Given the description of an element on the screen output the (x, y) to click on. 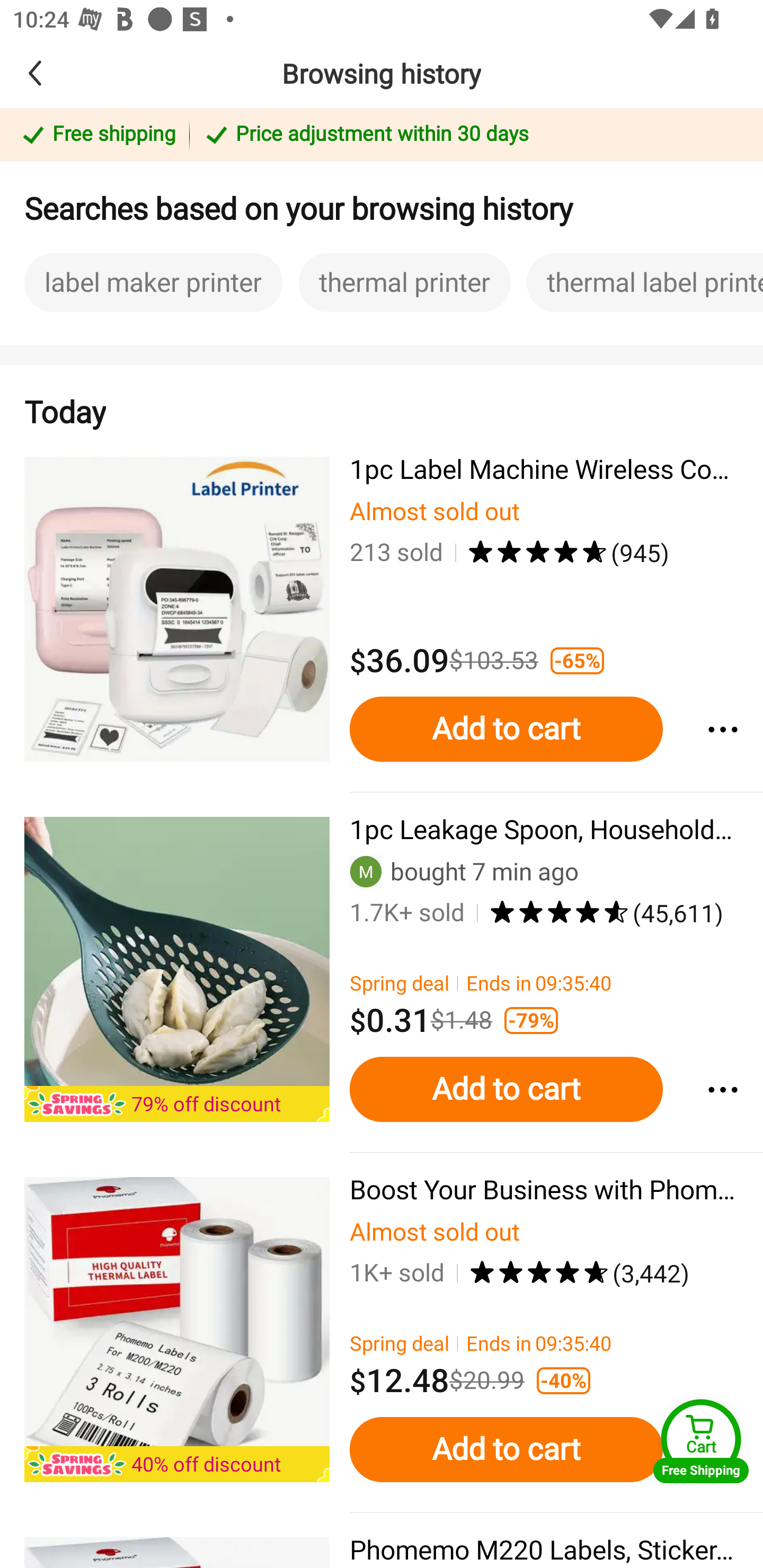
Back  back (63, 72)
Free shipping (97, 135)
Price adjustment within 30 days (472, 135)
label maker printer (153, 282)
thermal printer (404, 282)
thermal label printer (644, 282)
Add to cart (506, 729)
 (721, 729)
Add to cart (506, 1089)
 (721, 1089)
Cart Free Shipping Cart (701, 1440)
Add to cart (506, 1449)
